Given the description of an element on the screen output the (x, y) to click on. 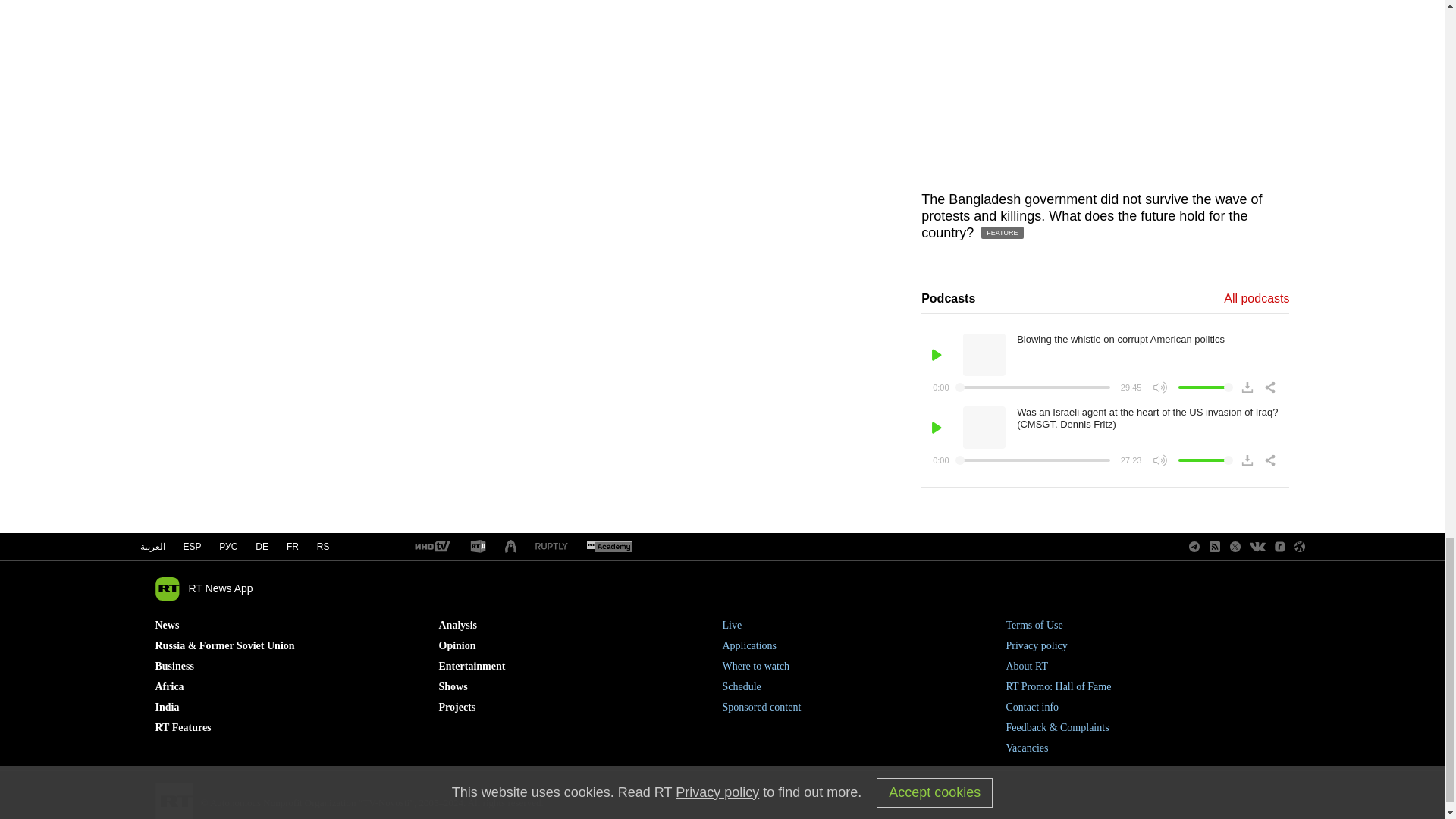
RT  (608, 546)
RT  (551, 546)
RT  (431, 546)
RT  (478, 546)
